Given the description of an element on the screen output the (x, y) to click on. 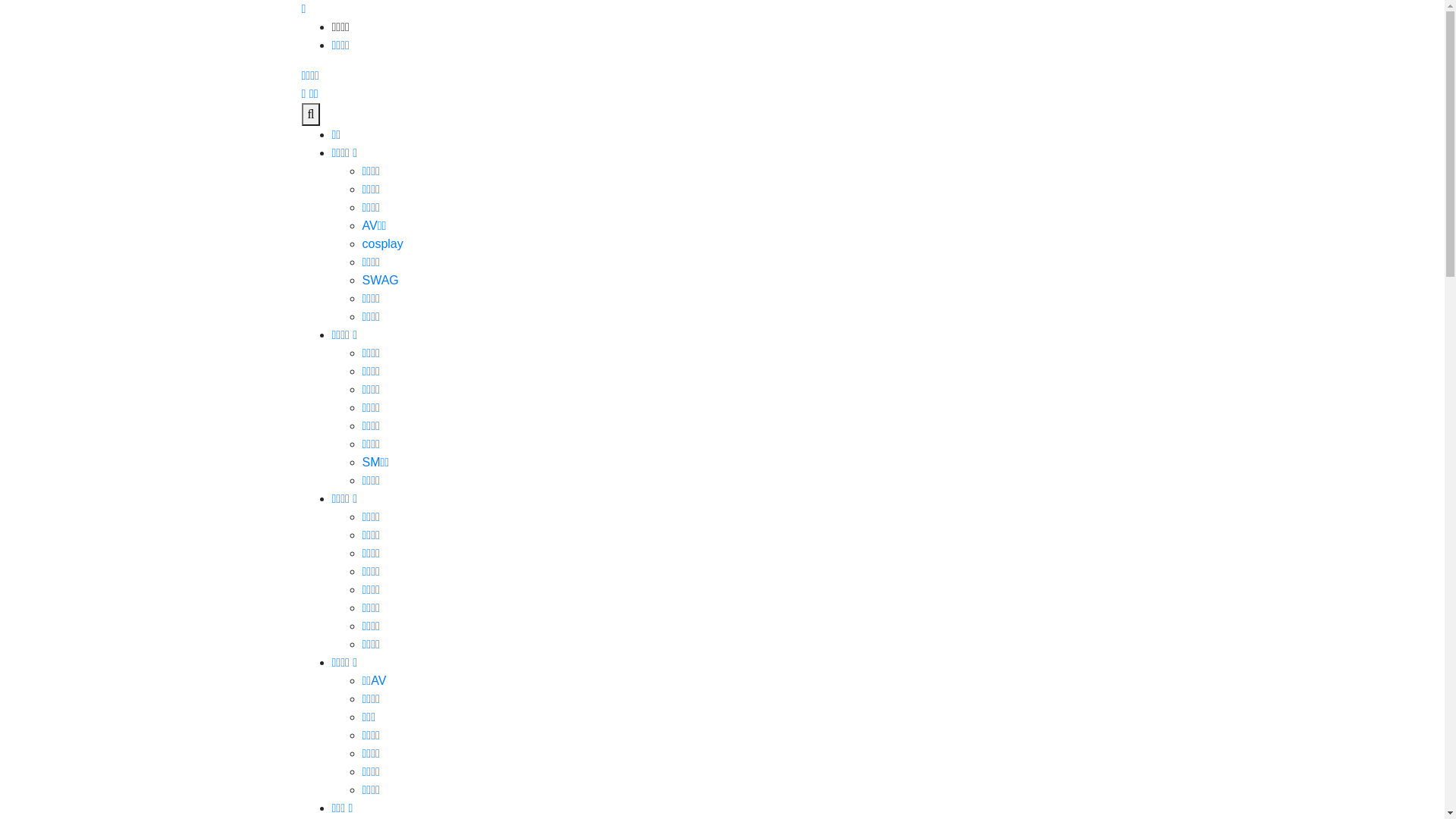
SWAG Element type: text (380, 279)
cosplay Element type: text (382, 243)
